Given the description of an element on the screen output the (x, y) to click on. 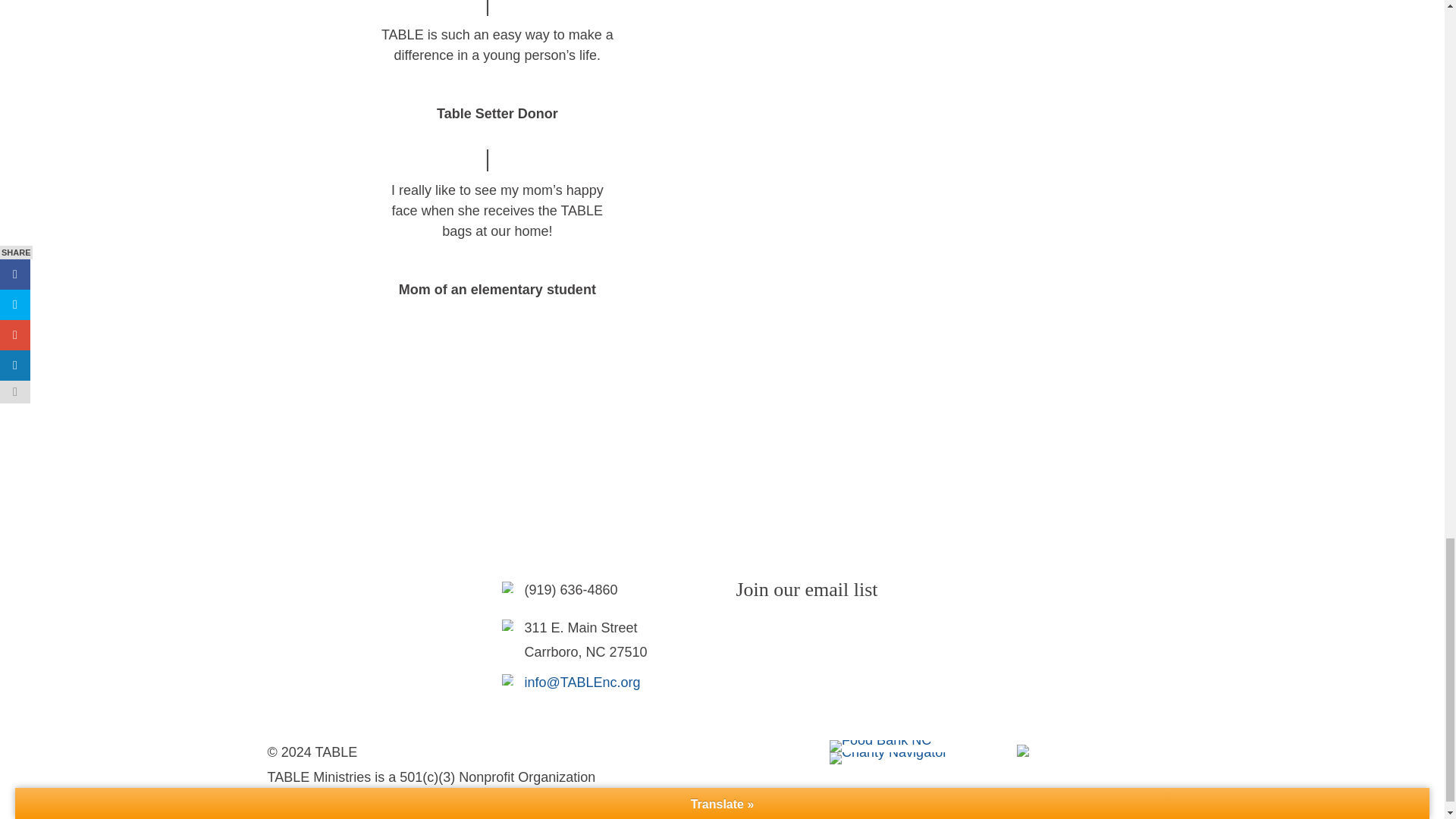
Follow on Instagram (777, 634)
Follow on Facebook (747, 634)
